Given the description of an element on the screen output the (x, y) to click on. 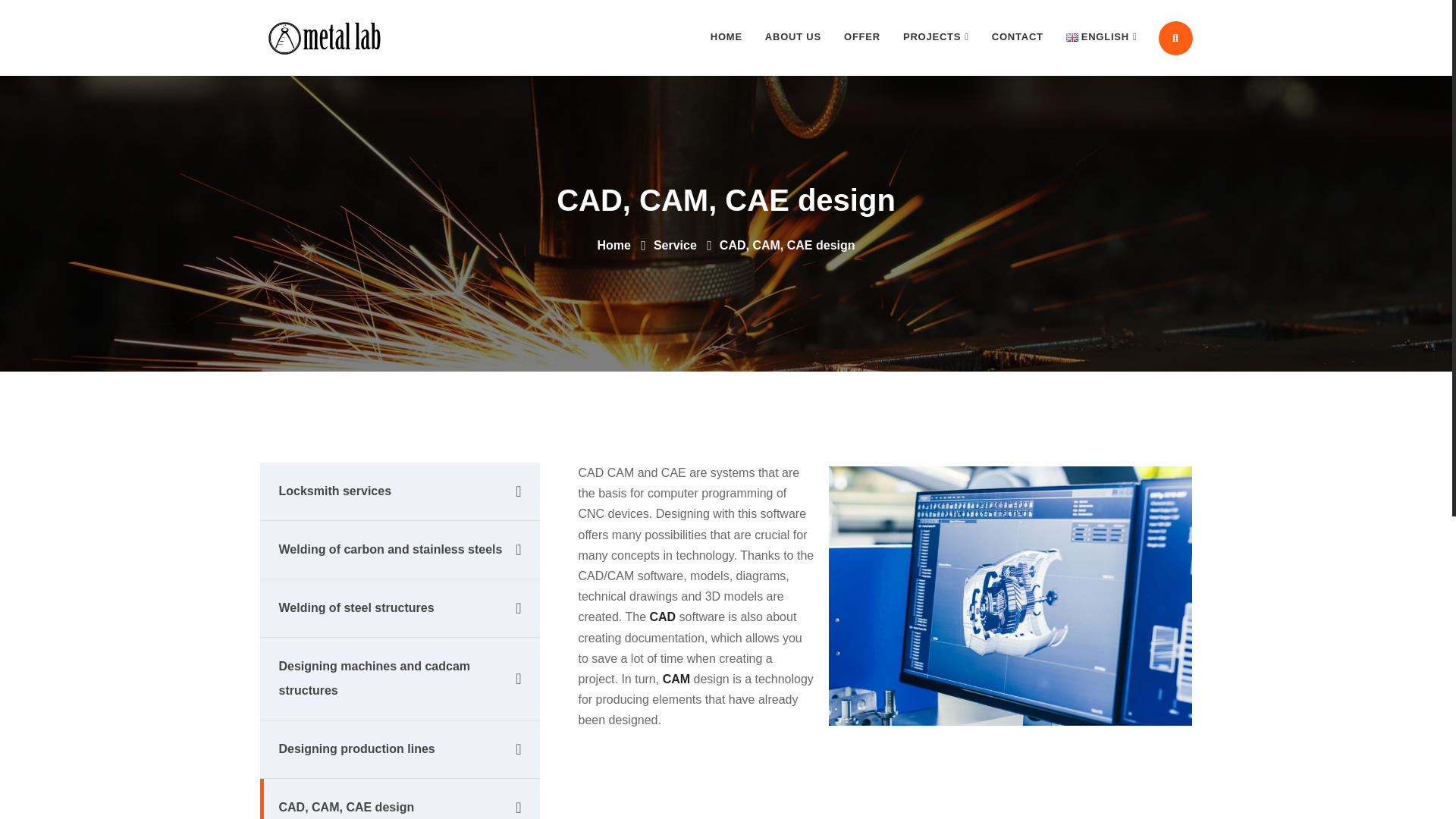
Home (613, 245)
CONTACT (1016, 37)
Welding of carbon and stainless steels (399, 549)
CAD, CAM, CAE design (399, 798)
Service (675, 245)
Locksmith services (399, 491)
ABOUT US (793, 37)
Designing production lines (399, 749)
PROJECTS (935, 37)
Contact (1016, 37)
Home (613, 245)
Welding of steel structures (399, 608)
Designing machines and cadcam structures (399, 679)
Projects (935, 37)
ENGLISH (1101, 37)
